Given the description of an element on the screen output the (x, y) to click on. 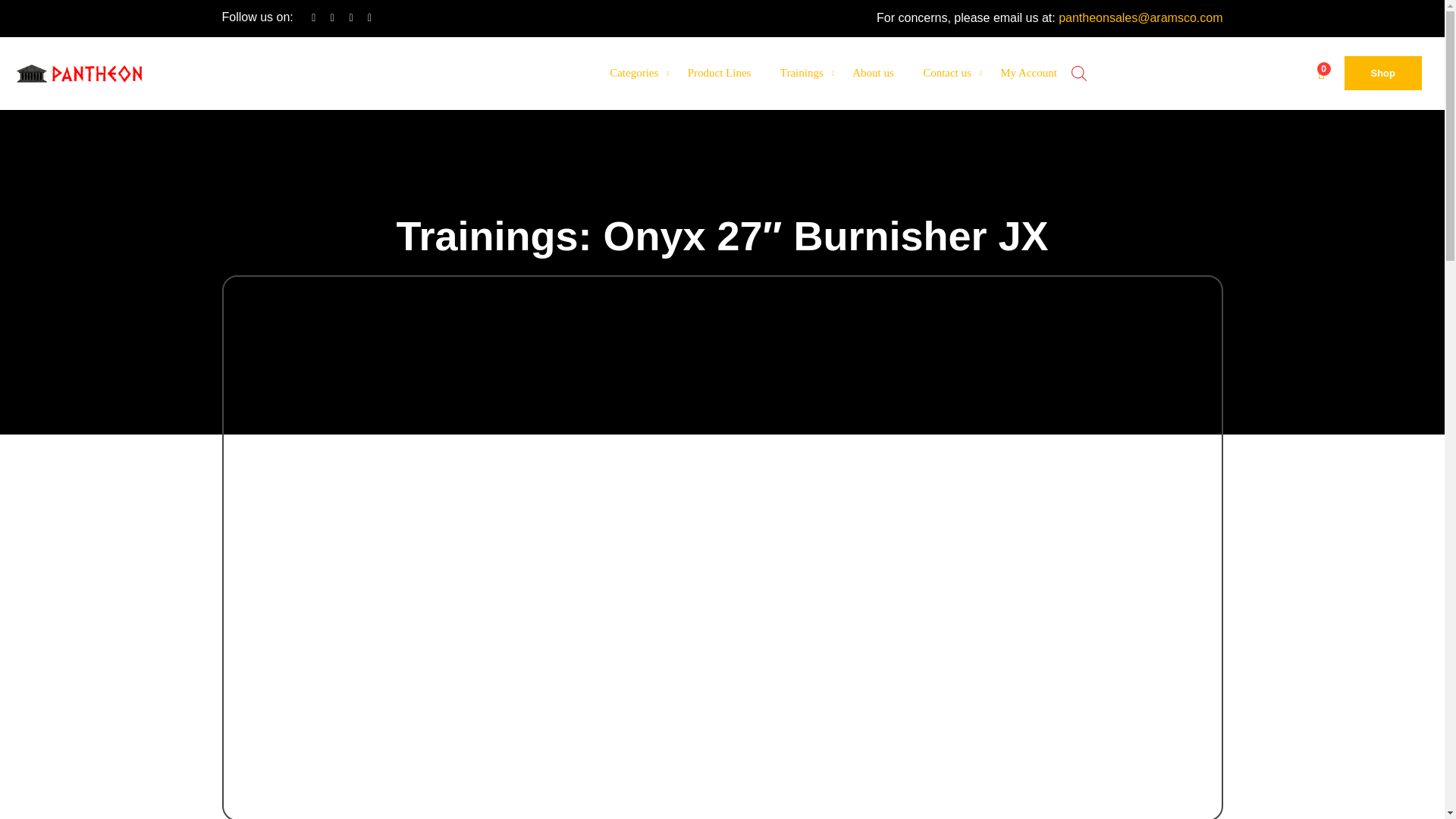
CA:714-527-6700 (259, 71)
CO:720-504-5800 (259, 83)
Pantheon Surface Prep (94, 73)
Categories (633, 72)
